Given the description of an element on the screen output the (x, y) to click on. 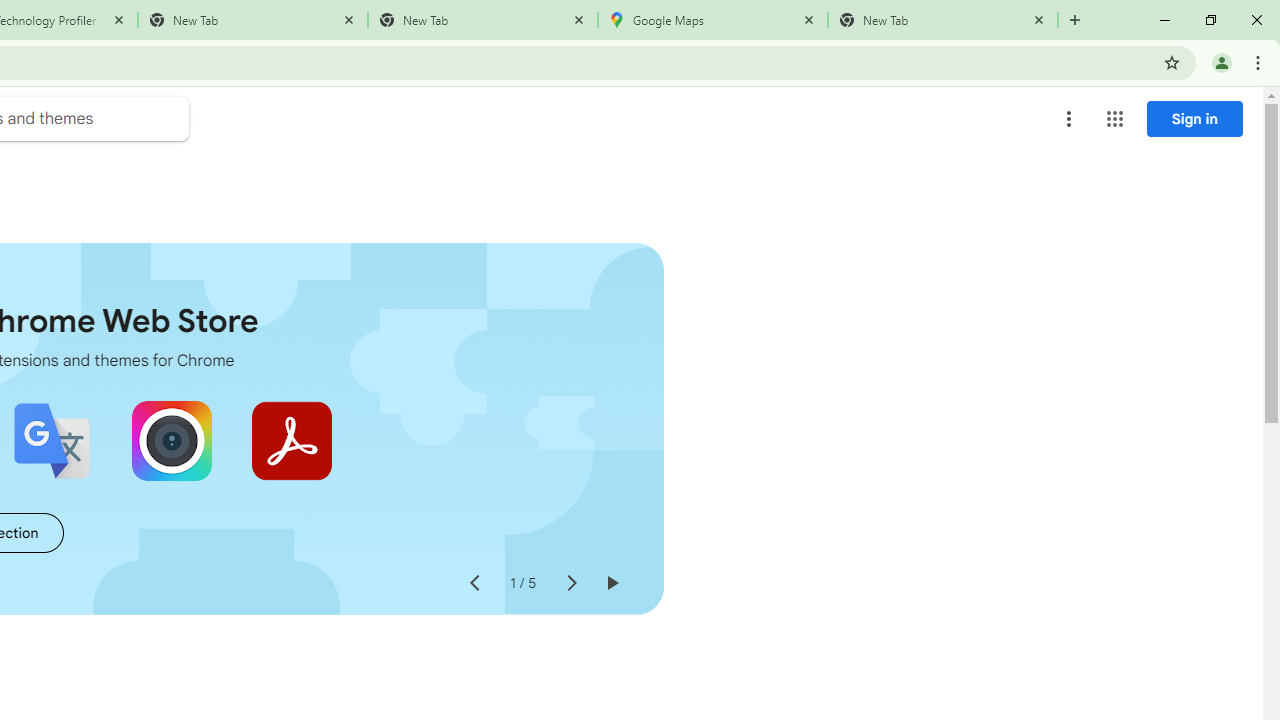
Previous slide (474, 583)
Adobe Acrobat: PDF edit, convert, sign tools (291, 440)
New Tab (943, 20)
New Tab (482, 20)
More options menu (1069, 118)
Next slide (570, 583)
Awesome Screen Recorder & Screenshot (171, 440)
Resume auto-play (611, 583)
